Given the description of an element on the screen output the (x, y) to click on. 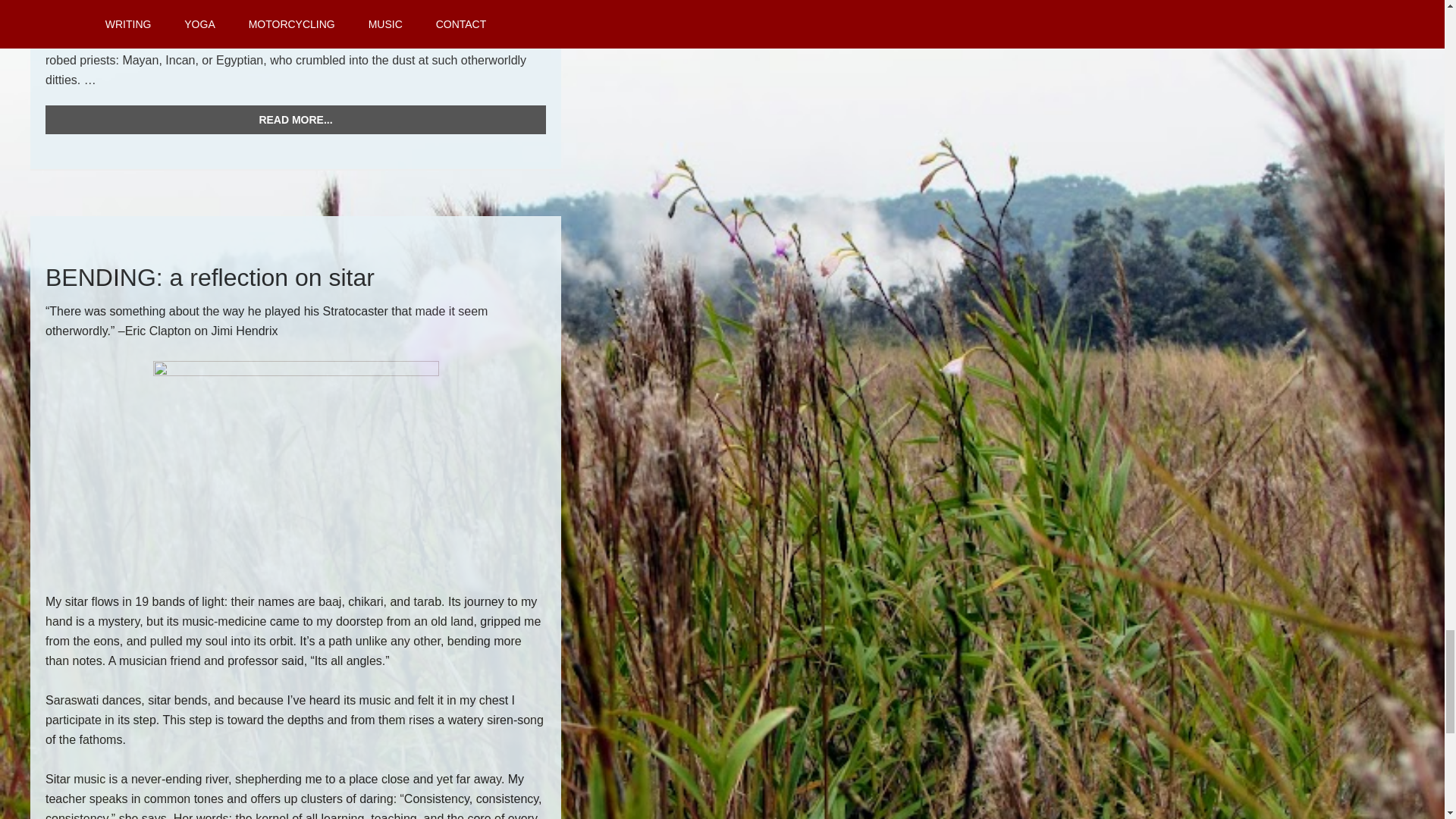
BENDING: a reflection on sitar (209, 277)
READ MORE... (295, 120)
